Given the description of an element on the screen output the (x, y) to click on. 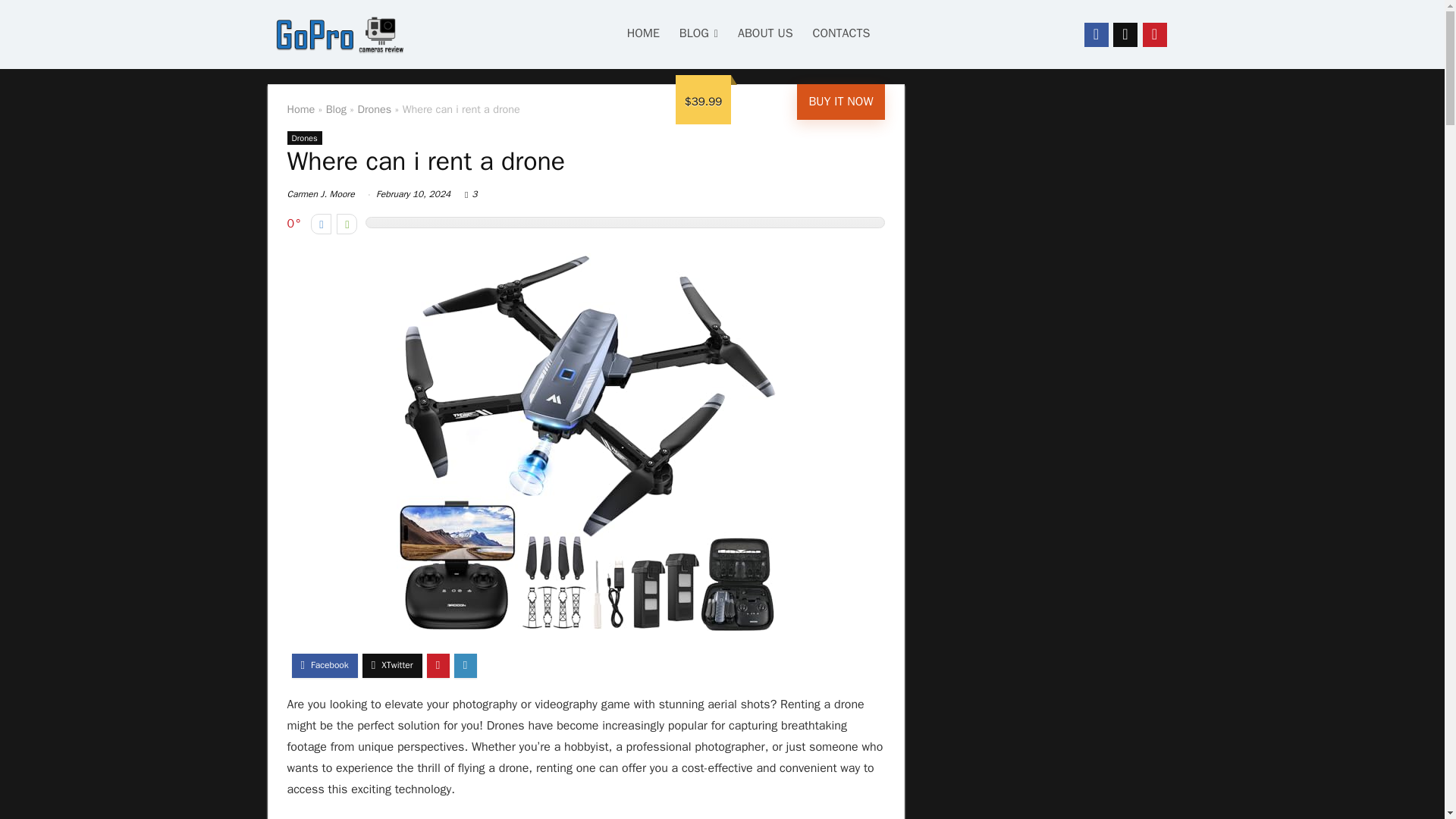
Drones (303, 137)
Vote up (346, 223)
CONTACTS (841, 34)
Vote down (321, 223)
BLOG (698, 34)
Carmen J. Moore (319, 193)
HOME (643, 34)
ABOUT US (765, 34)
View all posts in Drones (303, 137)
Drones (373, 109)
